Given the description of an element on the screen output the (x, y) to click on. 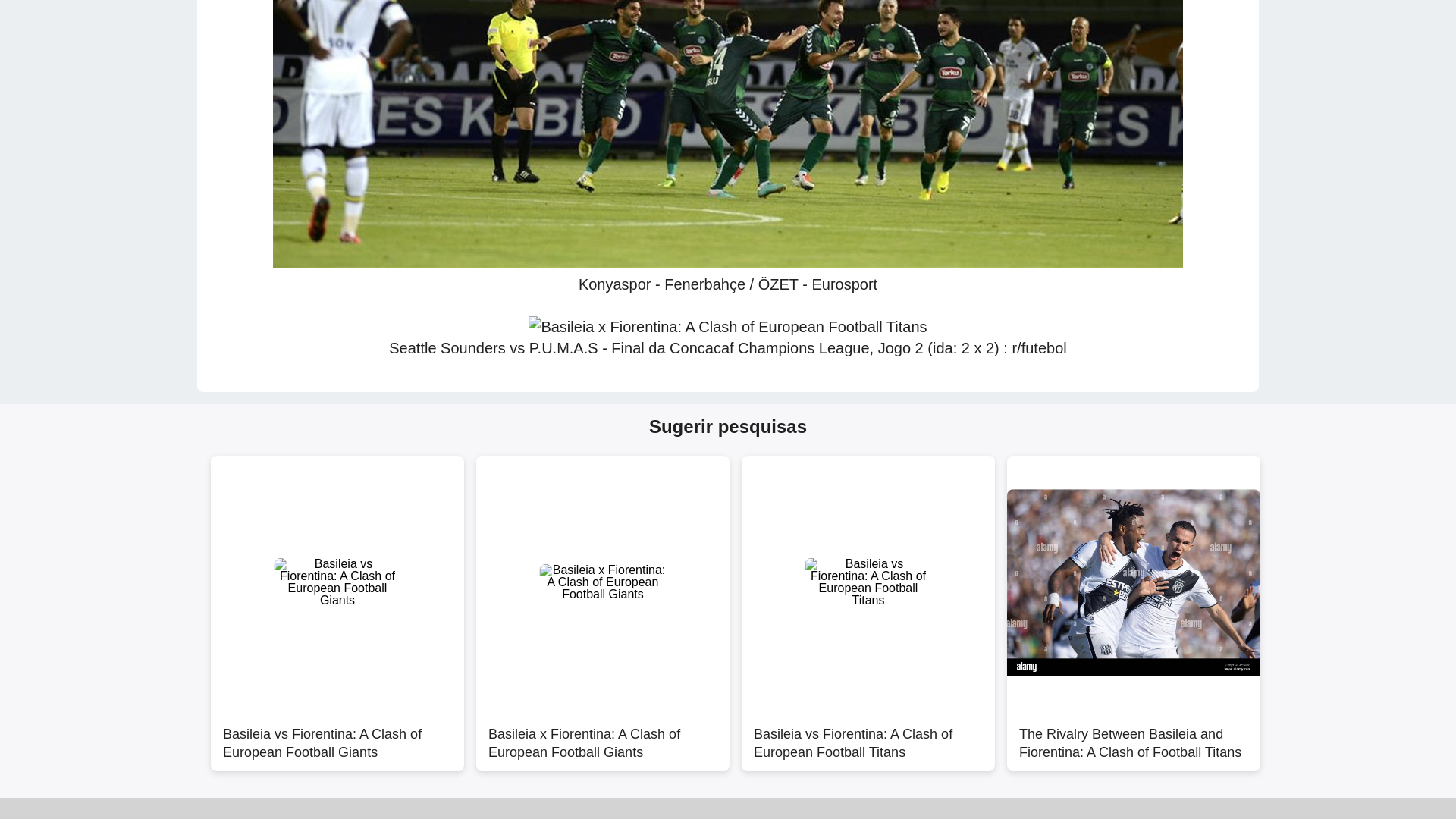
Basileia vs Fiorentina: A Clash of European Football Giants (337, 735)
Basileia x Fiorentina: A Clash of European Football Giants (602, 735)
Basileia vs Fiorentina: A Clash of European Football Titans (867, 735)
